Given the description of an element on the screen output the (x, y) to click on. 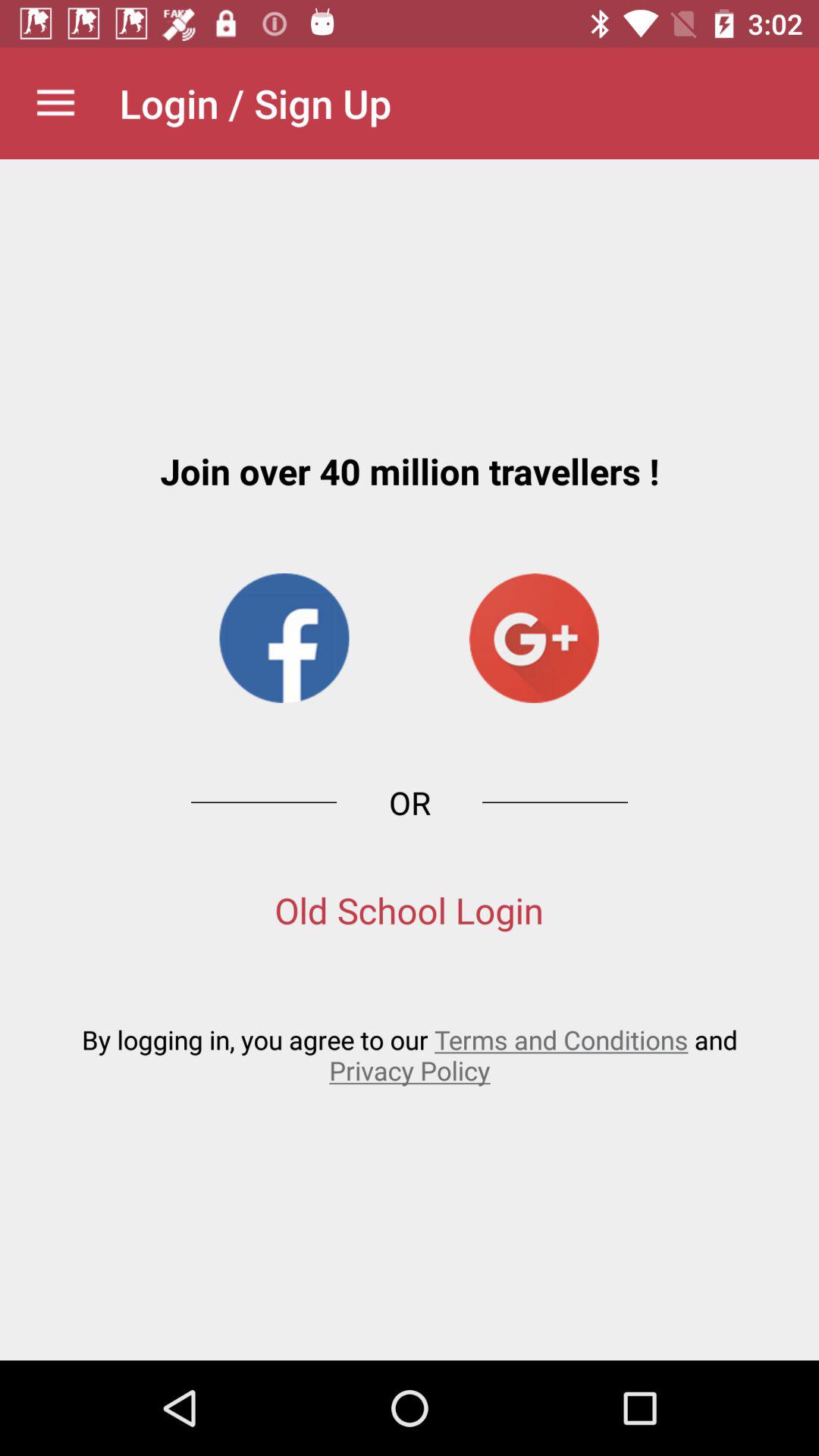
select the app to the left of login / sign up (55, 103)
